Given the description of an element on the screen output the (x, y) to click on. 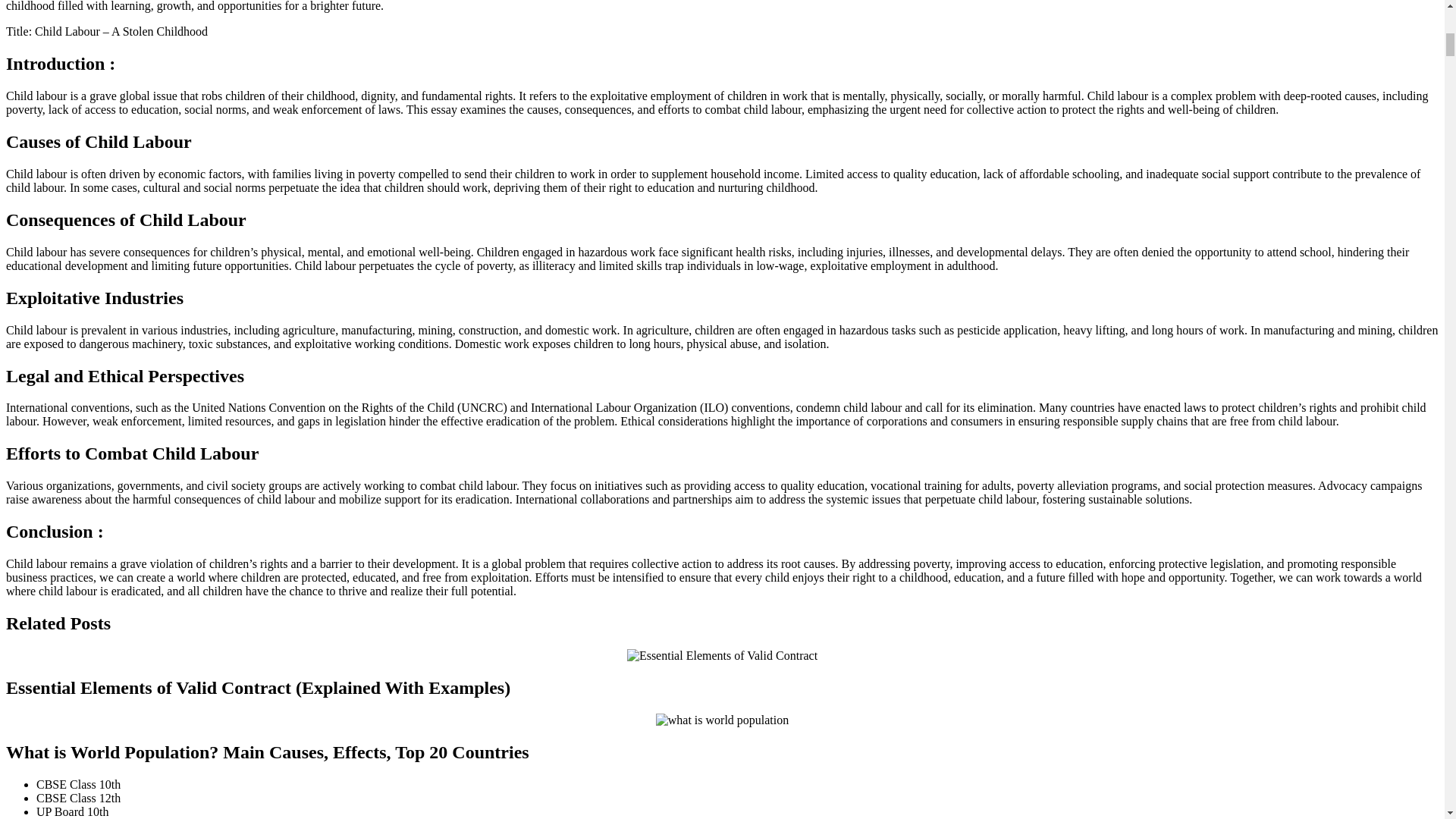
child labour best essay (722, 720)
child labour best essay (721, 655)
